Given the description of an element on the screen output the (x, y) to click on. 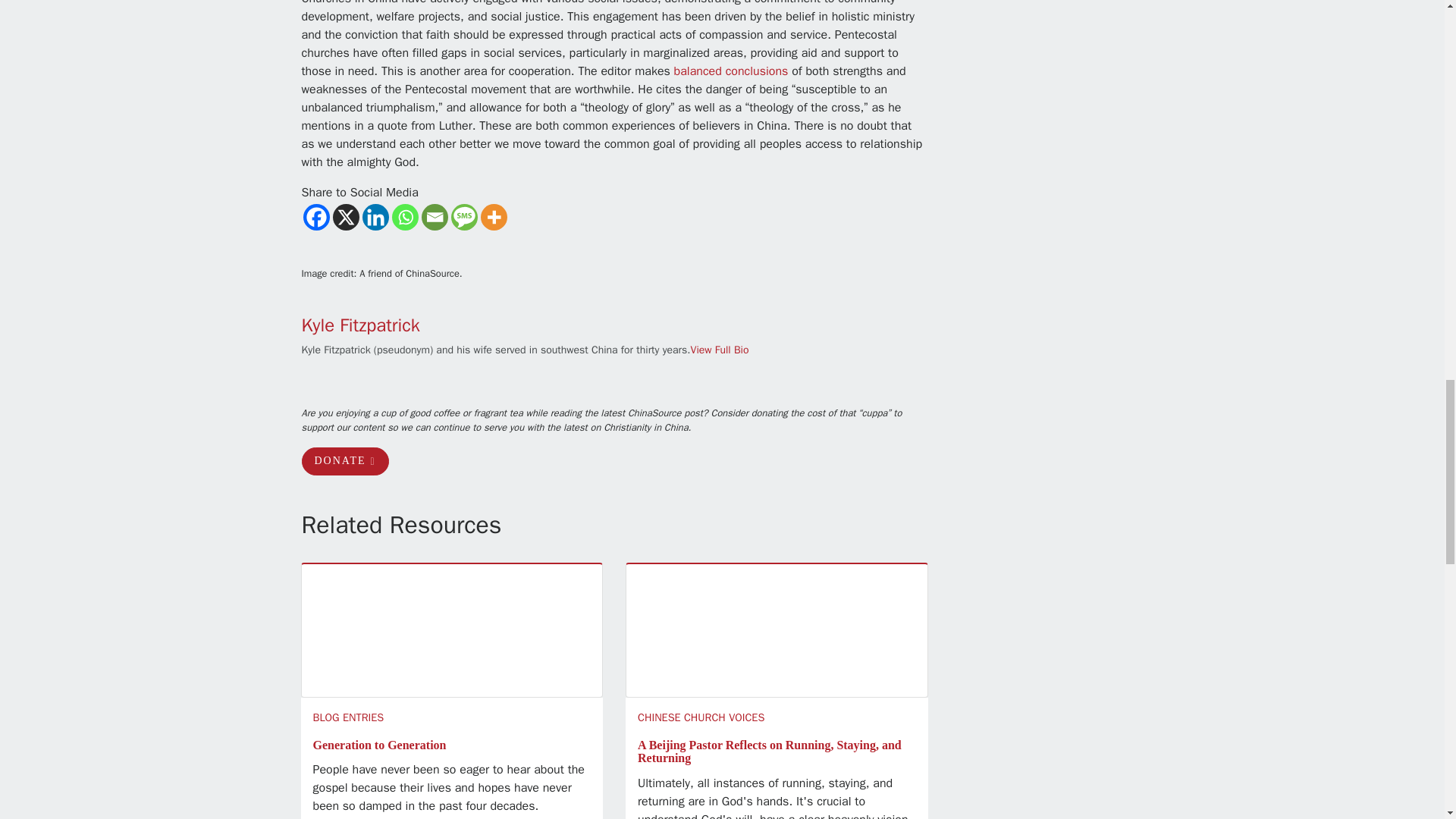
X (344, 216)
View Full Bio (719, 349)
Facebook (316, 216)
Whatsapp (404, 216)
DONATE (344, 461)
CHINESE CHURCH VOICES (700, 716)
BLOG ENTRIES (348, 716)
Generation to Generation (379, 744)
balanced conclusions (731, 70)
Kyle Fitzpatrick (360, 324)
More (493, 216)
A Beijing Pastor Reflects on Running, Staying, and Returning (769, 751)
Email (435, 216)
Linkedin (375, 216)
SMS (463, 216)
